Given the description of an element on the screen output the (x, y) to click on. 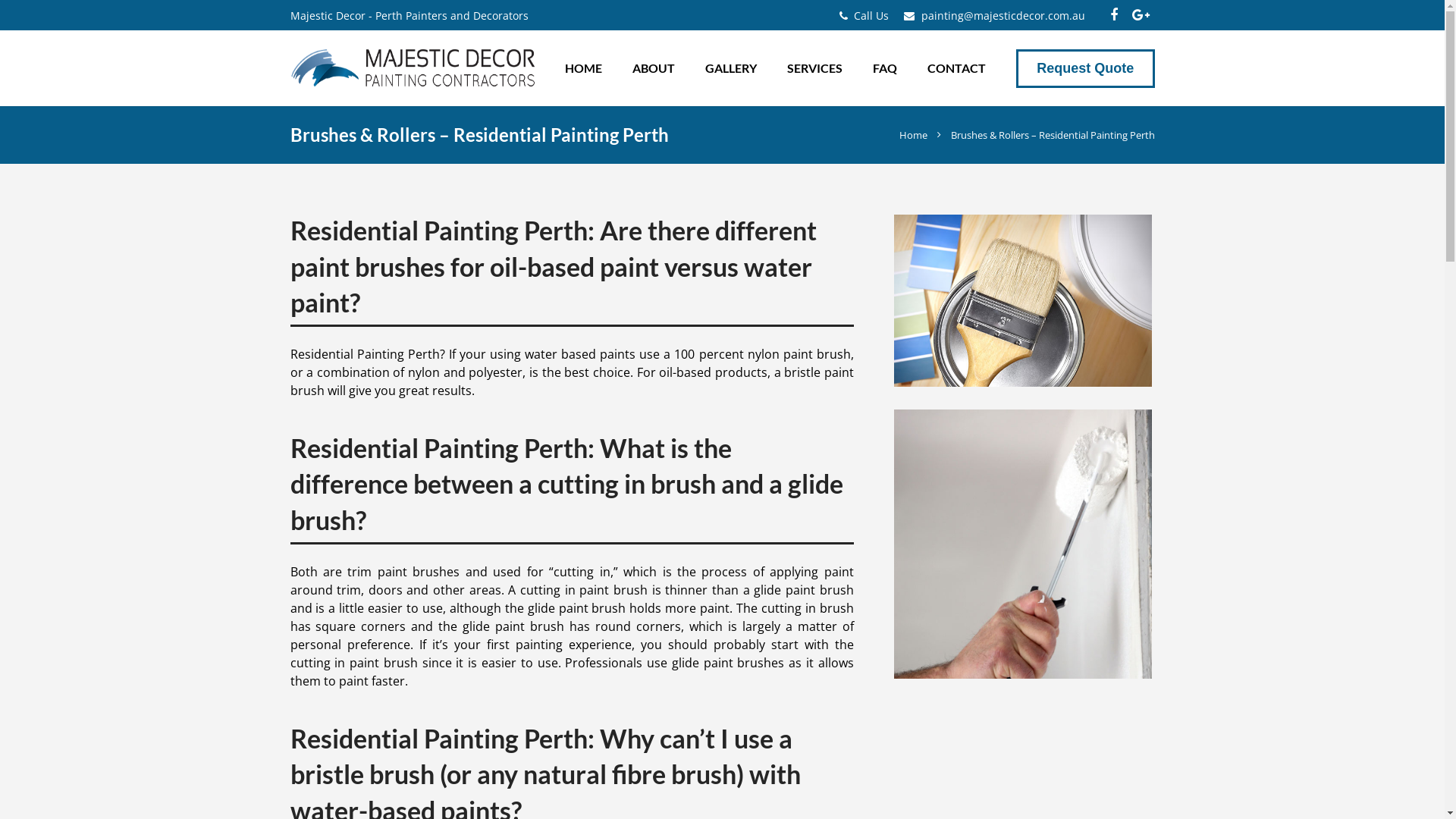
painting@majesticdecor.com.au Element type: text (1002, 14)
Request Quote Element type: text (1085, 67)
FAQ Element type: text (884, 68)
HOME Element type: text (583, 68)
GALLERY Element type: text (730, 68)
Home Element type: text (913, 134)
CONTACT Element type: text (956, 68)
SERVICES Element type: text (814, 68)
Call Us Element type: text (870, 14)
ABOUT Element type: text (653, 68)
